Given the description of an element on the screen output the (x, y) to click on. 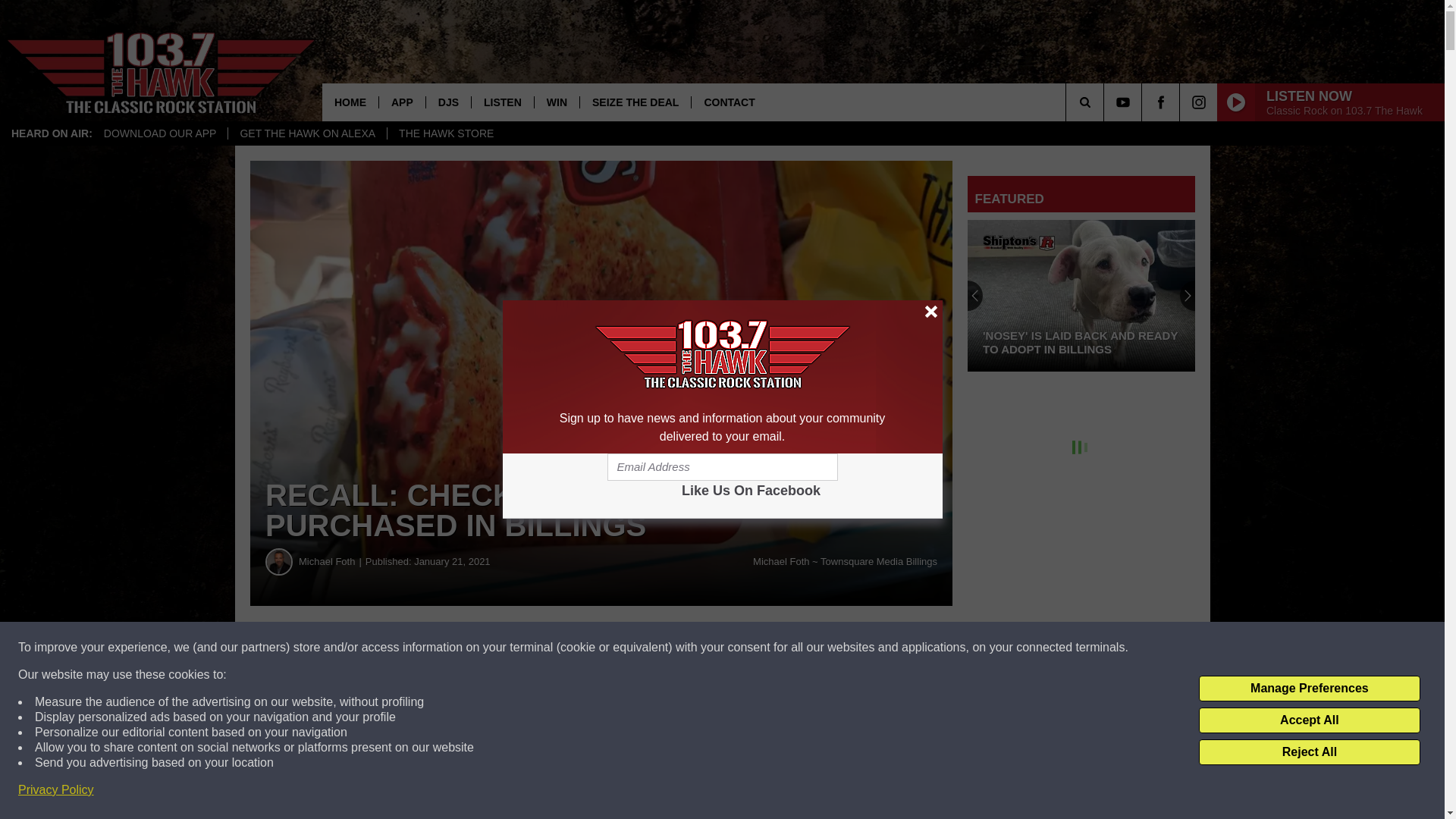
Share on Facebook (460, 647)
APP (401, 102)
CONTACT (728, 102)
WIN (556, 102)
SEARCH (1106, 102)
HOME (349, 102)
SEARCH (1106, 102)
Email Address (722, 466)
Privacy Policy (55, 789)
THE HAWK STORE (446, 133)
LISTEN (502, 102)
Accept All (1309, 720)
Share on Twitter (741, 647)
Manage Preferences (1309, 688)
Reject All (1309, 751)
